Given the description of an element on the screen output the (x, y) to click on. 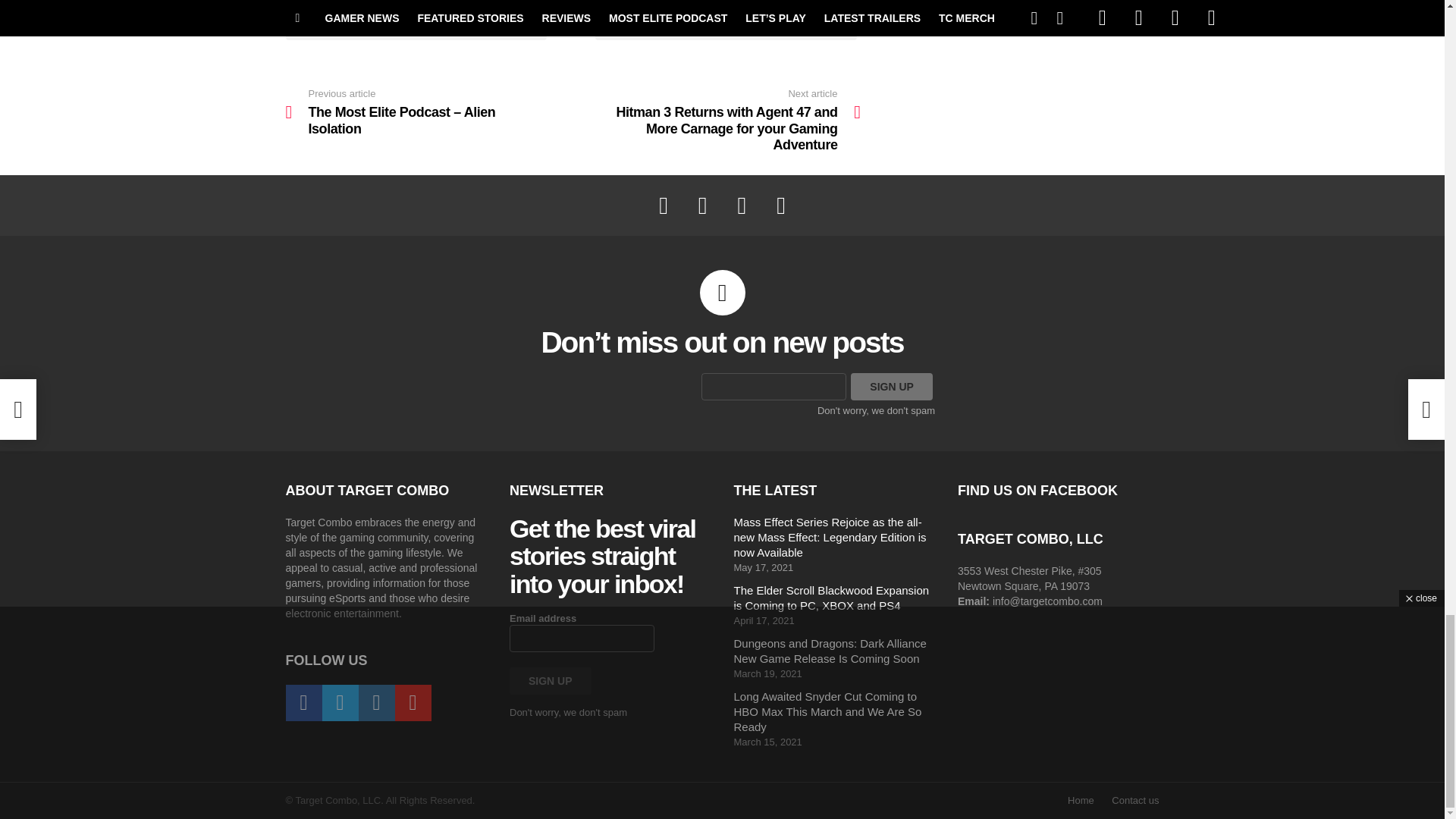
Upvote (416, 22)
Downvote (726, 22)
Downvote (726, 22)
Sign up (891, 386)
Sign up (550, 680)
Upvote (416, 22)
